Given the description of an element on the screen output the (x, y) to click on. 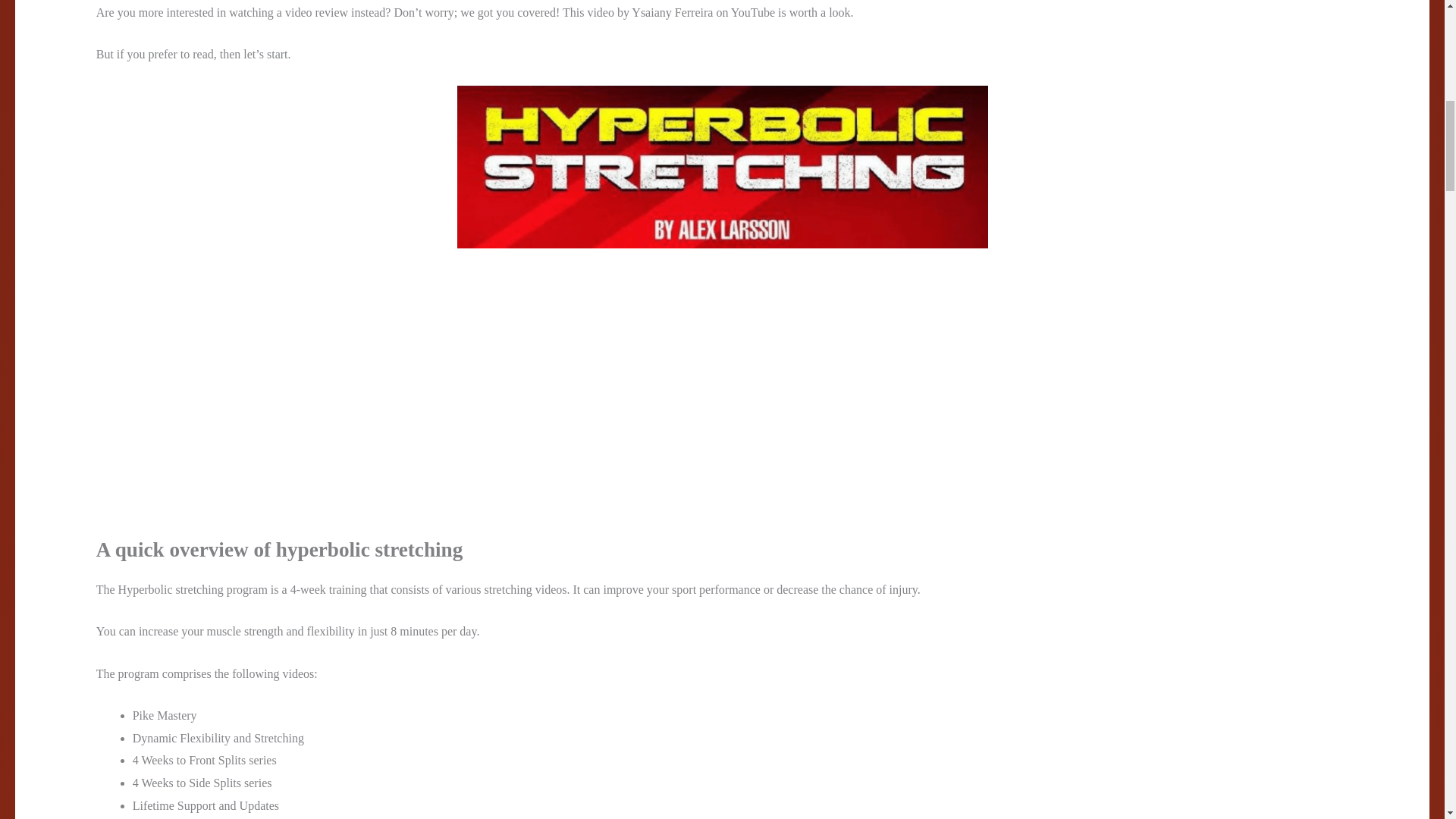
YouTube video player (308, 390)
